Given the description of an element on the screen output the (x, y) to click on. 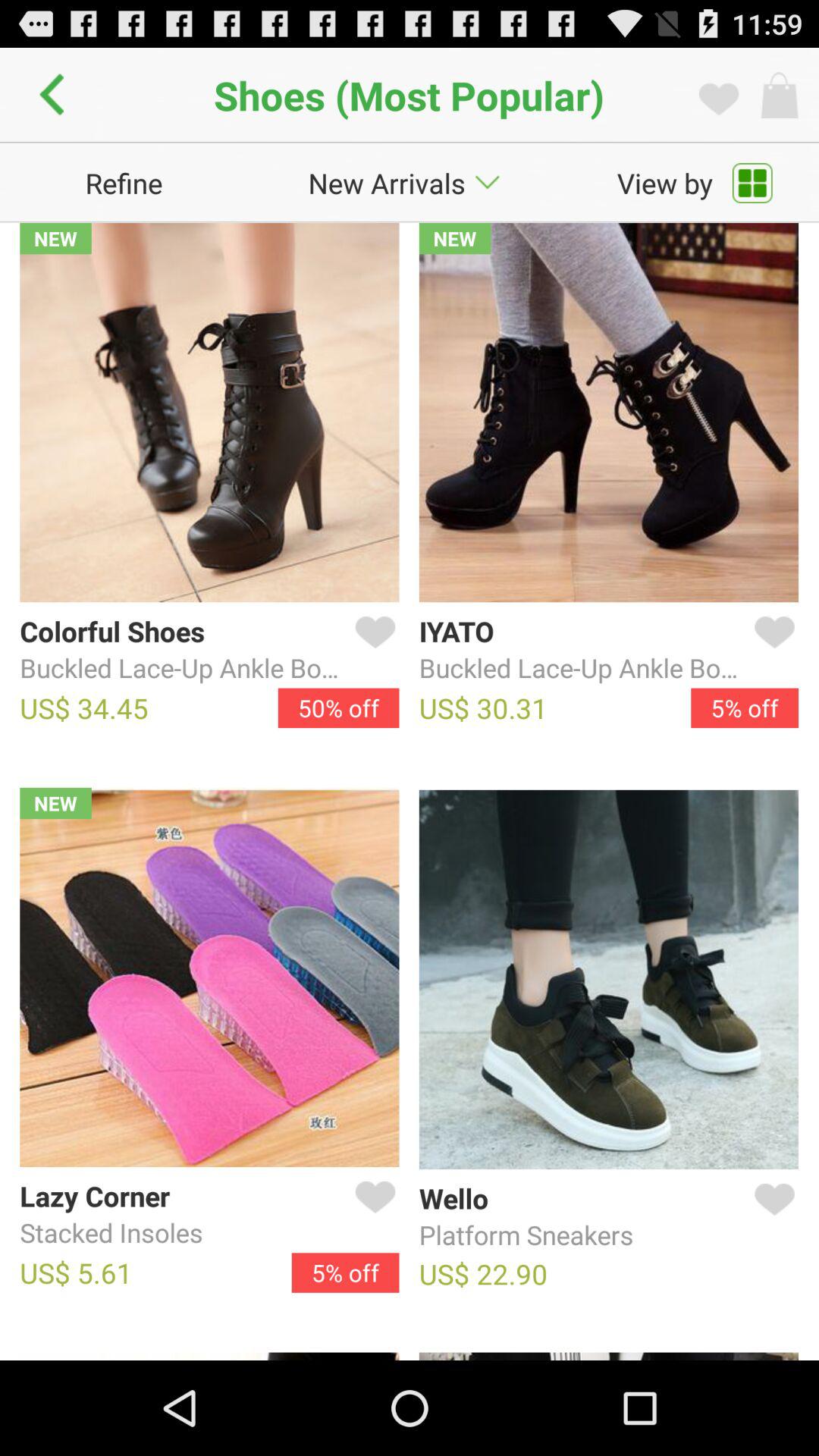
toggle favorite (372, 1214)
